Given the description of an element on the screen output the (x, y) to click on. 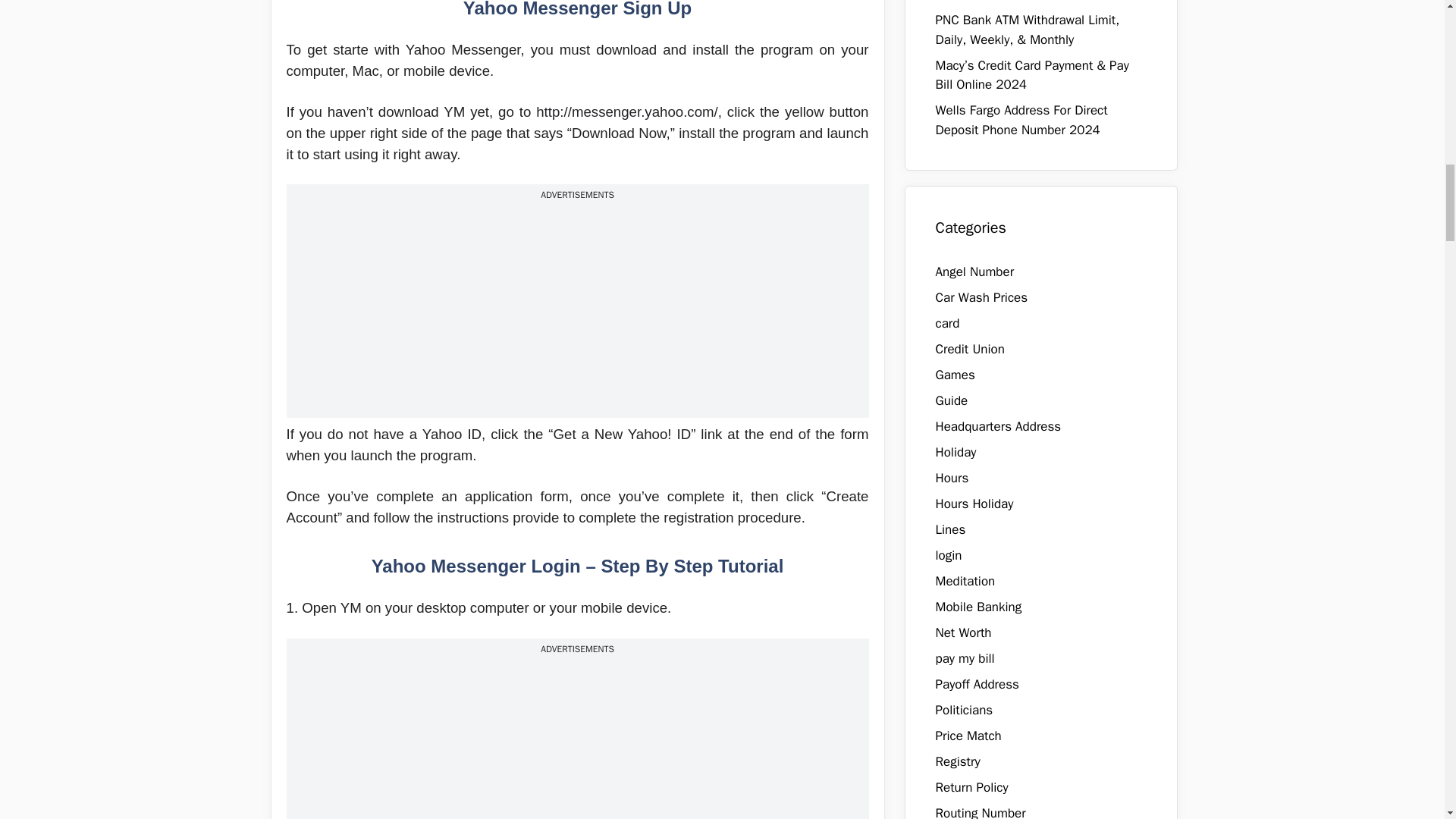
ADVERTISEMENTS (577, 648)
Angel Number (975, 271)
card (947, 323)
Car Wash Prices (981, 297)
Circle K Car Wash Prices List 2024 (1035, 1)
Wells Fargo Address For Direct Deposit Phone Number 2024 (1022, 120)
ADVERTISEMENTS (577, 194)
Credit Union (970, 349)
Games (955, 374)
